Given the description of an element on the screen output the (x, y) to click on. 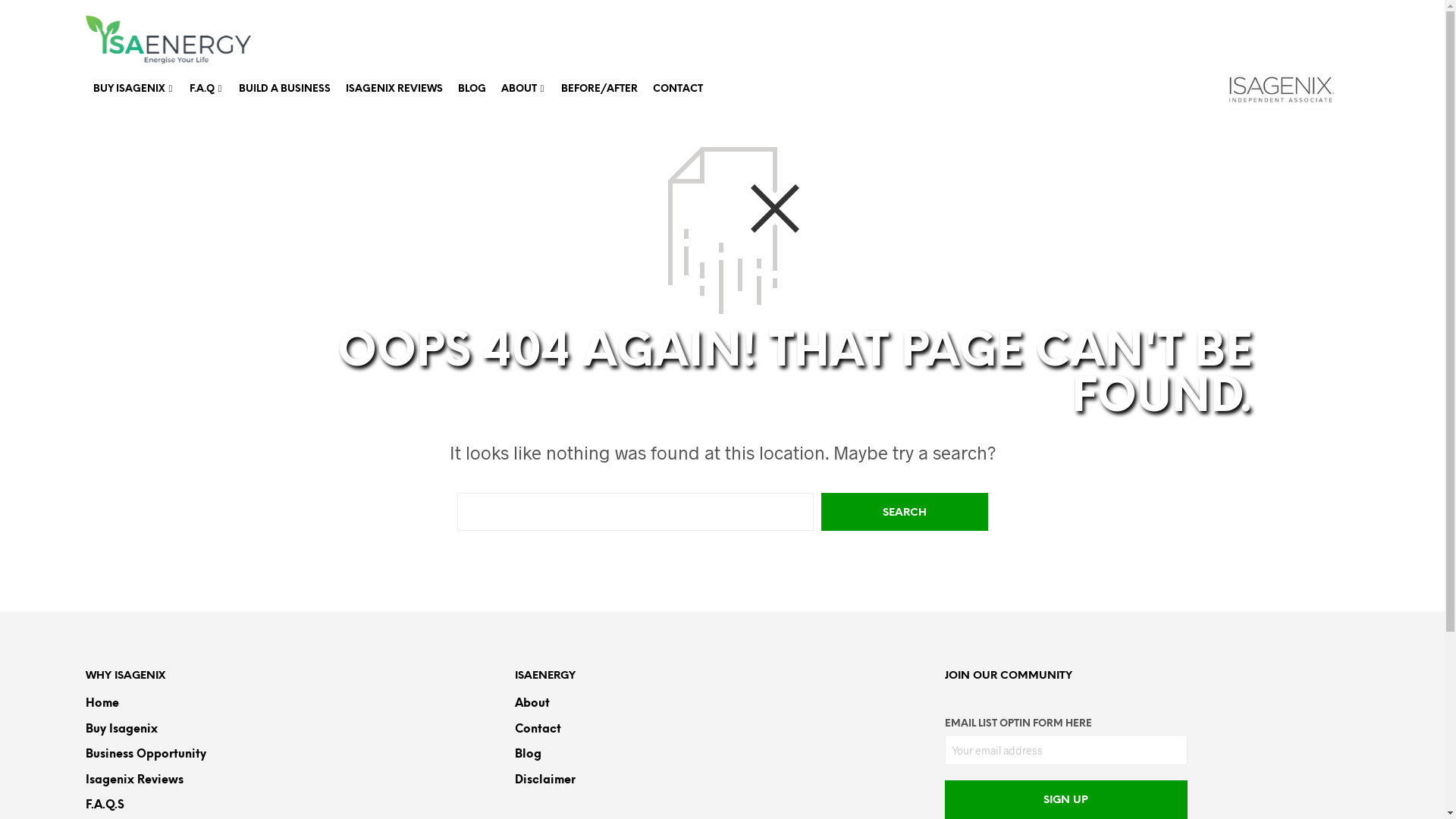
About Element type: text (531, 703)
Home Element type: text (101, 703)
BUILD A BUSINESS Element type: text (283, 88)
Business Opportunity Element type: text (144, 754)
F.A.Q Element type: text (202, 88)
Blog Element type: text (527, 754)
BLOG Element type: text (471, 88)
ABOUT Element type: text (517, 88)
BUY ISAGENIX Element type: text (128, 88)
BEFORE/AFTER Element type: text (599, 88)
Isagenix Reviews Element type: text (133, 779)
Buy Isagenix Element type: text (120, 729)
F.A.Q.S Element type: text (103, 805)
Independent Associate Logo Element type: hover (1281, 89)
Disclaimer Element type: text (544, 779)
IsaEnergy Products Online Element type: hover (167, 39)
CONTACT Element type: text (676, 88)
Contact Element type: text (537, 729)
ISAGENIX REVIEWS Element type: text (394, 88)
Search Element type: text (903, 511)
